Given the description of an element on the screen output the (x, y) to click on. 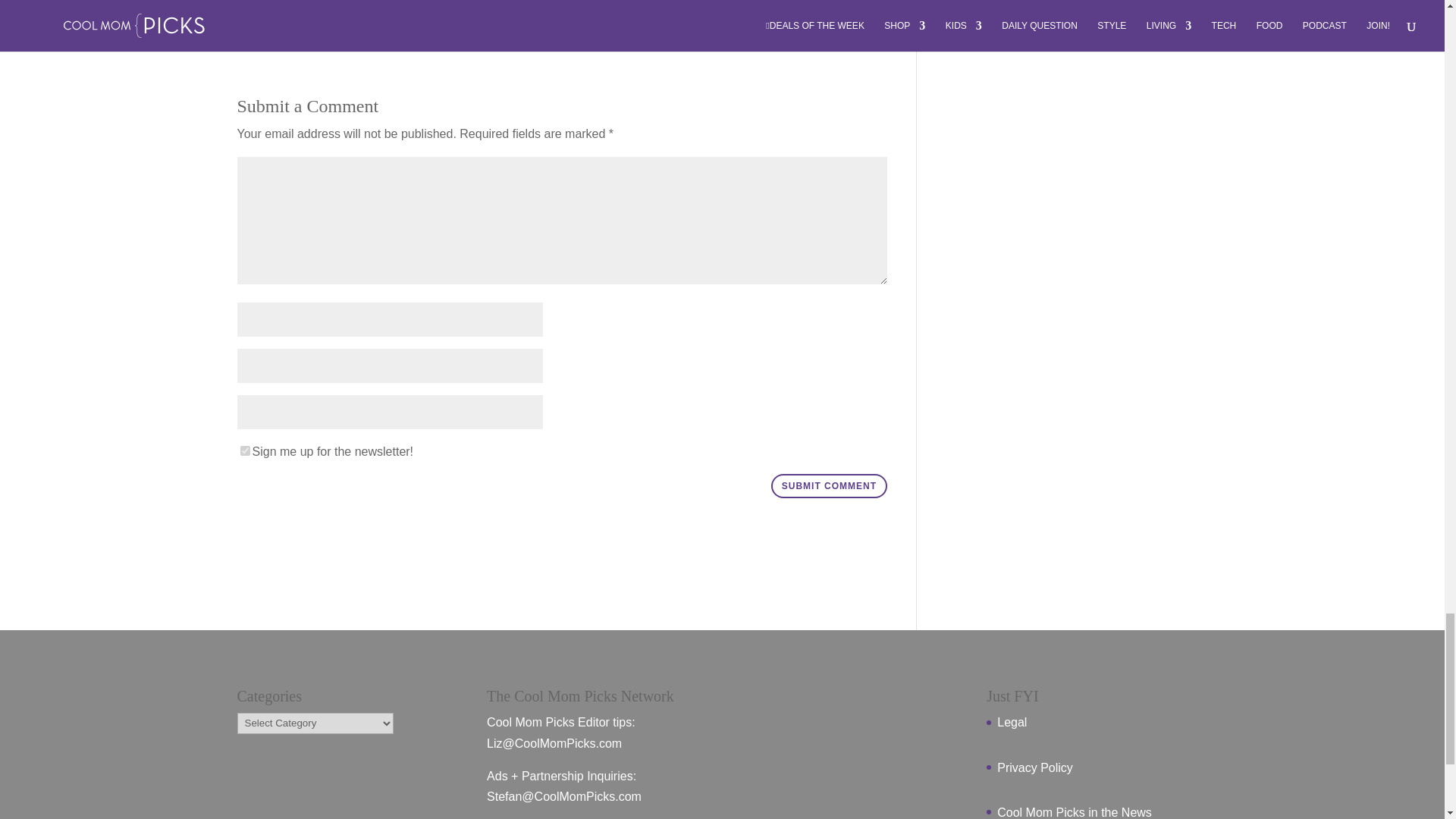
Submit Comment (828, 485)
1 (244, 450)
